Given the description of an element on the screen output the (x, y) to click on. 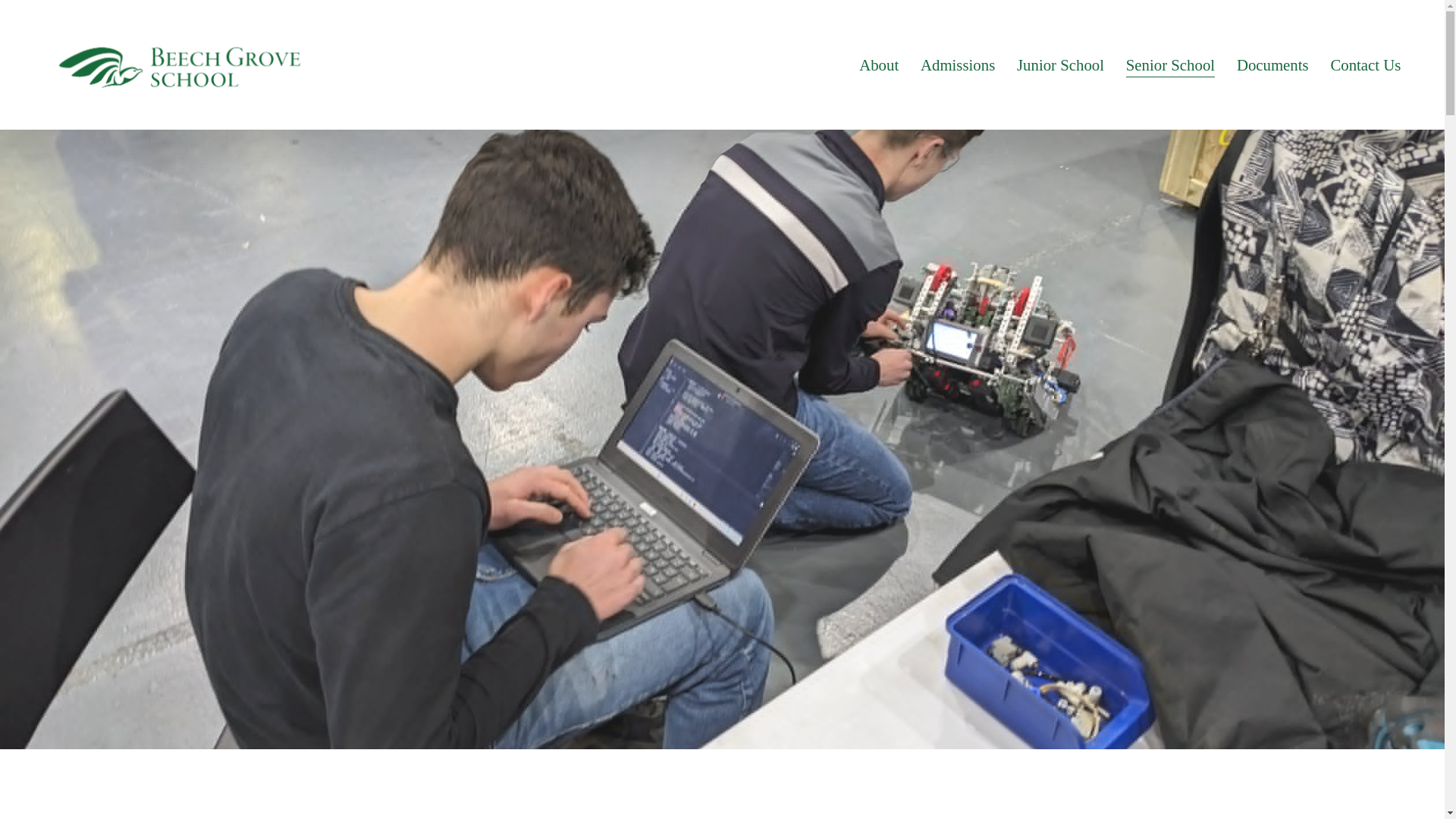
Junior School (1059, 64)
Senior School (1169, 64)
Contact Us (1365, 64)
About (878, 64)
Documents (1272, 64)
Admissions (957, 64)
